Given the description of an element on the screen output the (x, y) to click on. 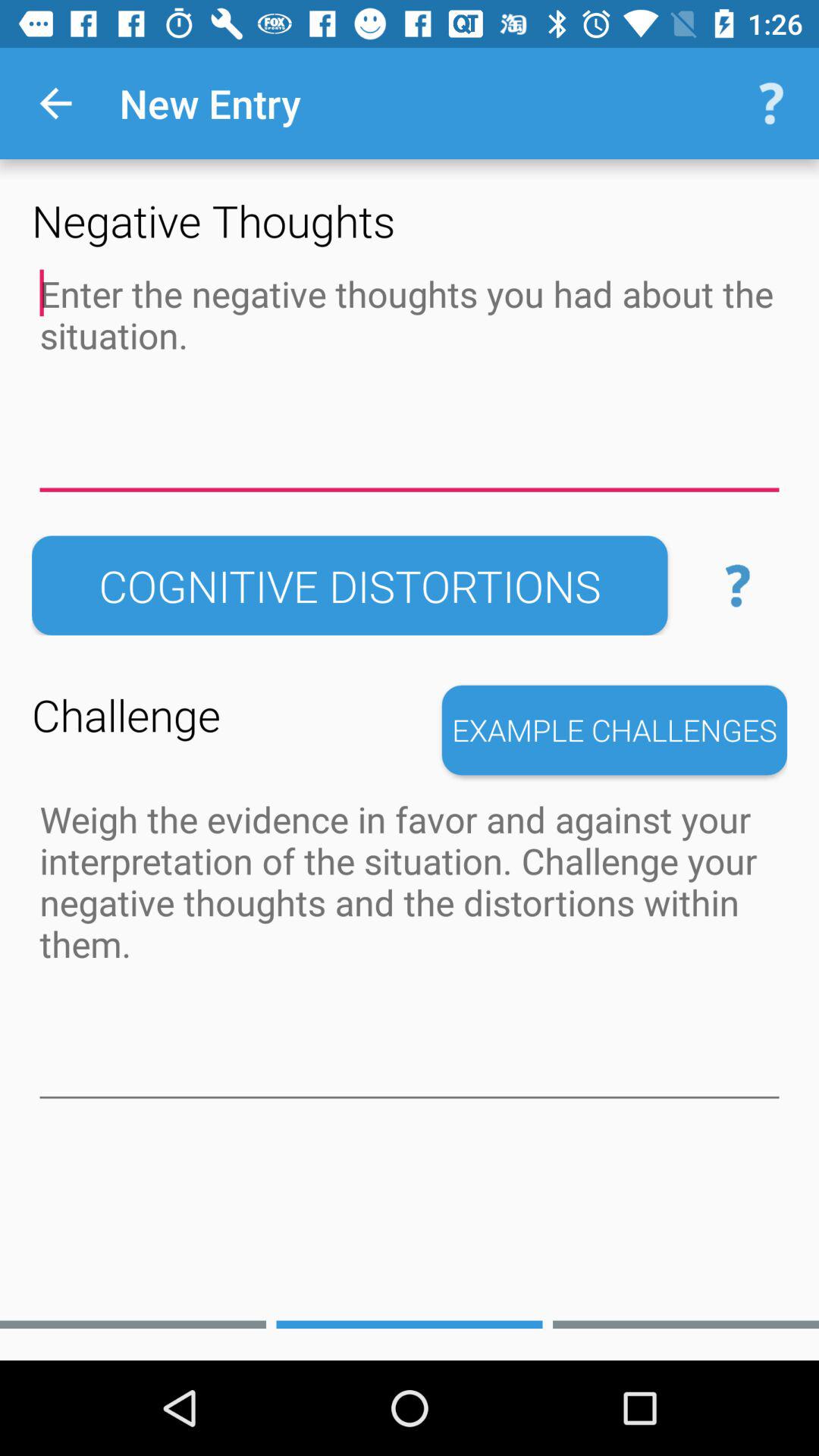
press item below the cognitive distortions button (614, 730)
